Given the description of an element on the screen output the (x, y) to click on. 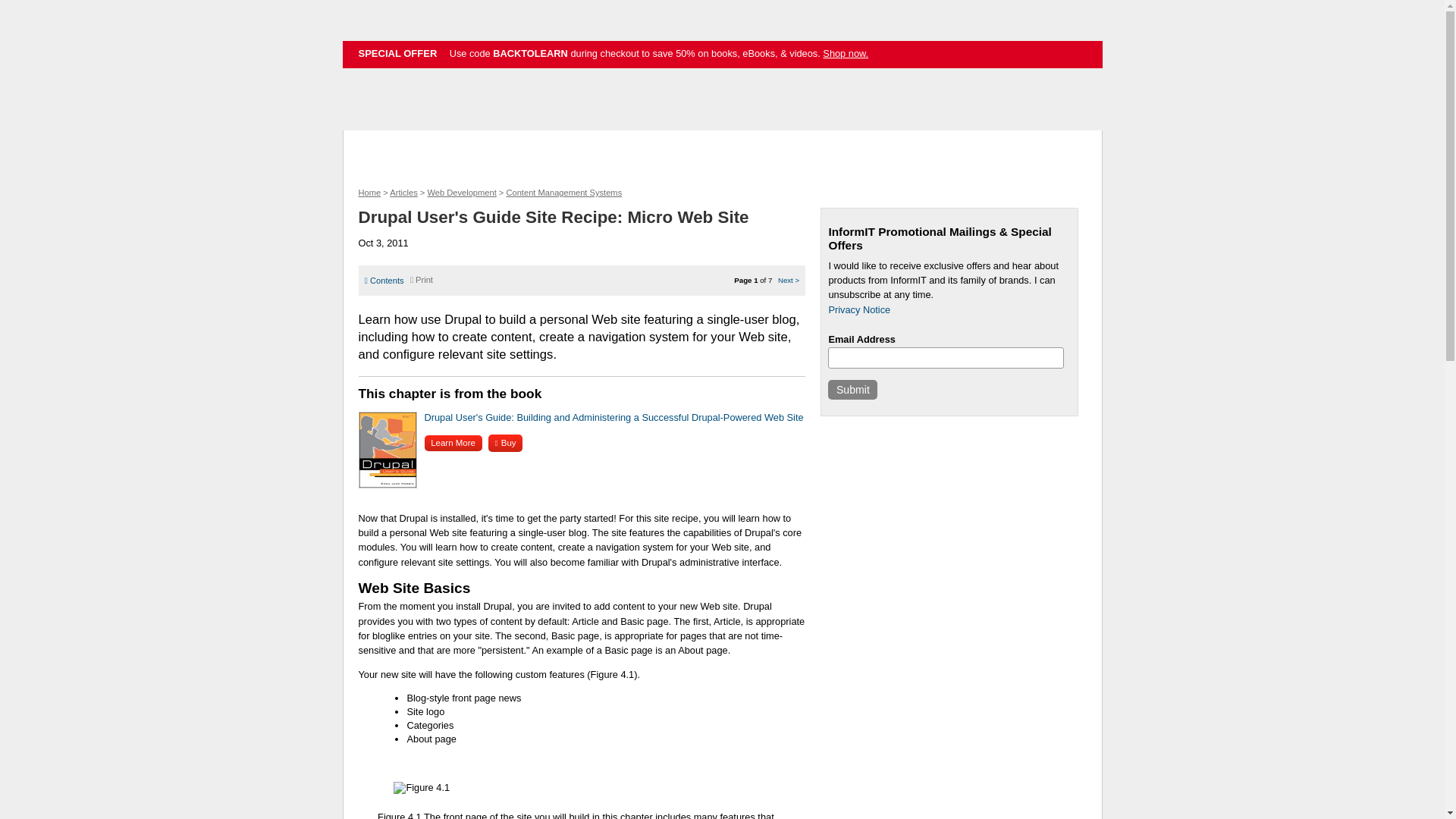
Figure 4.1 (399, 815)
Print (421, 279)
Shop now. (844, 52)
Content Management Systems (563, 192)
Submit (852, 389)
Home (369, 192)
Articles (403, 192)
Web Development (461, 192)
Learn More (453, 442)
